Given the description of an element on the screen output the (x, y) to click on. 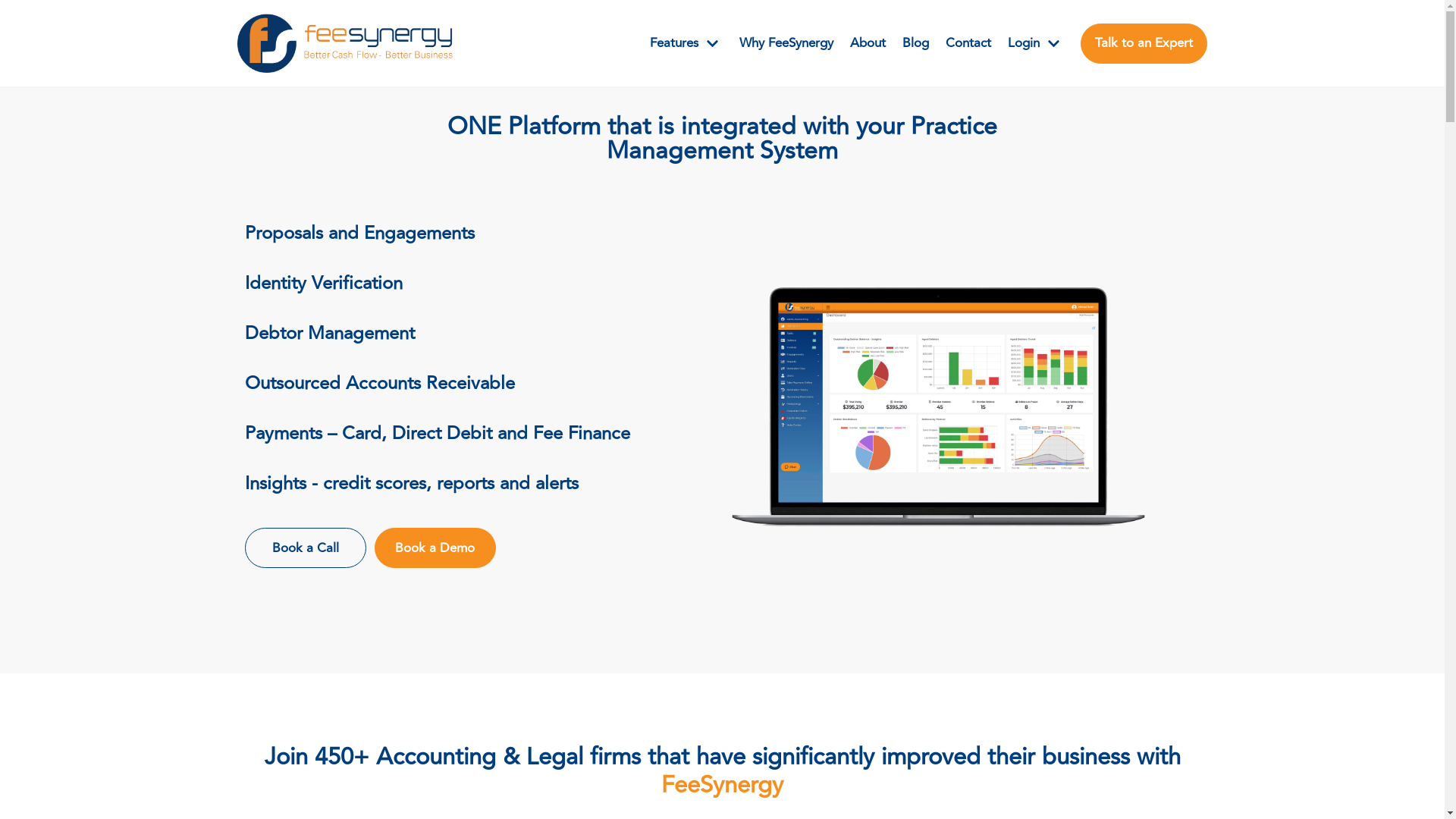
Book a Call Element type: text (304, 547)
Features Element type: text (685, 43)
Skip to content Element type: text (15, 7)
Talk to an Expert Element type: text (1143, 43)
FeeSynergy Collect Element type: hover (343, 42)
Book a Demo Element type: text (434, 547)
Blog Element type: text (915, 43)
About Element type: text (867, 43)
Contact Element type: text (968, 43)
Why FeeSynergy Element type: text (786, 43)
Login Element type: text (1035, 43)
